Given the description of an element on the screen output the (x, y) to click on. 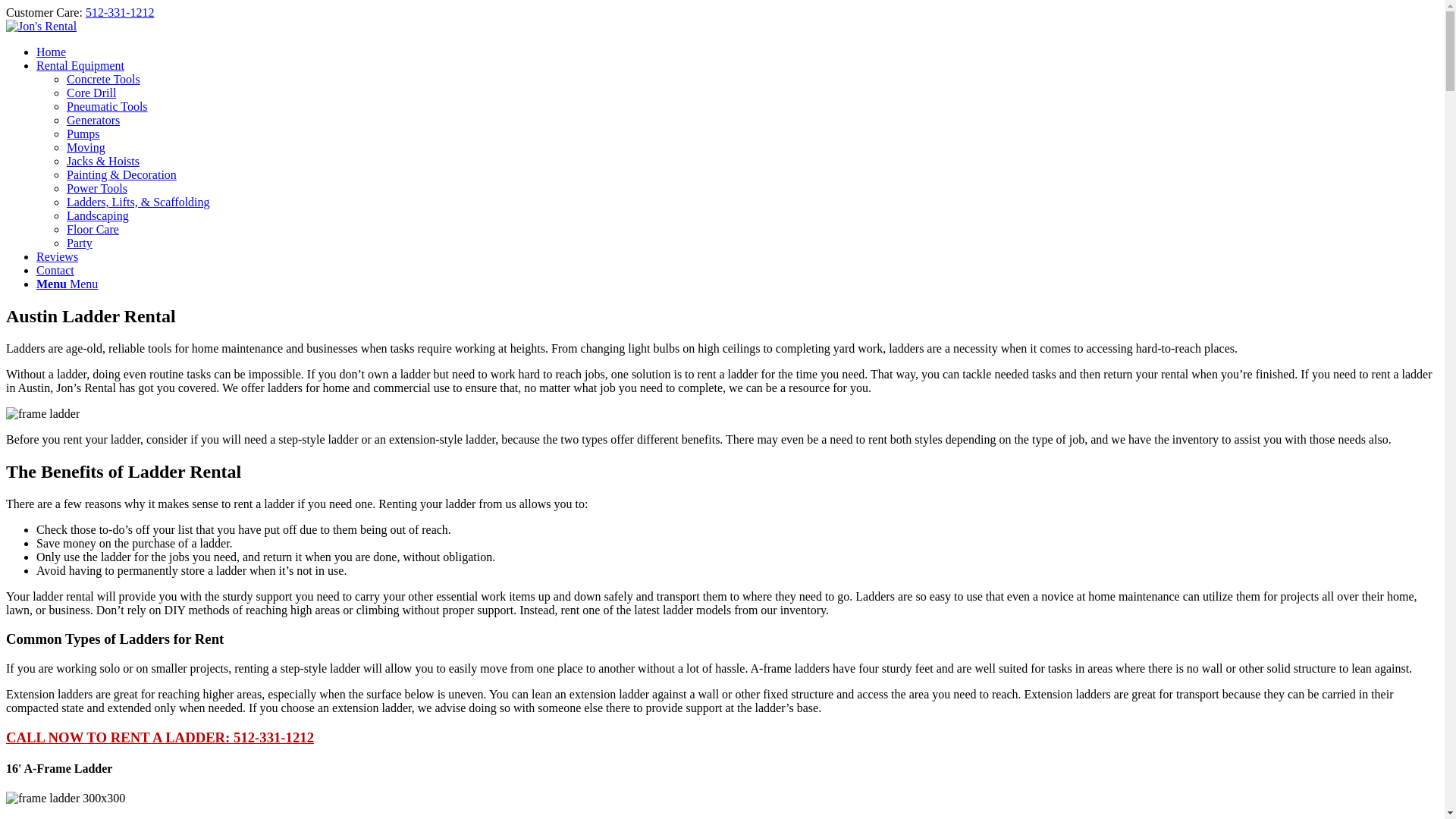
frame-ladder (42, 413)
Menu Menu (66, 283)
Core Drill (91, 92)
Generators (92, 119)
CALL NOW TO RENT A LADDER: 512-331-1212 (159, 737)
Landscaping (97, 215)
Pumps (83, 133)
512-331-1212 (119, 11)
Contact (55, 269)
Logo (41, 25)
Reviews (57, 256)
Rental Equipment (79, 65)
Moving (85, 146)
Floor Care (92, 228)
Pneumatic Tools (107, 106)
